Given the description of an element on the screen output the (x, y) to click on. 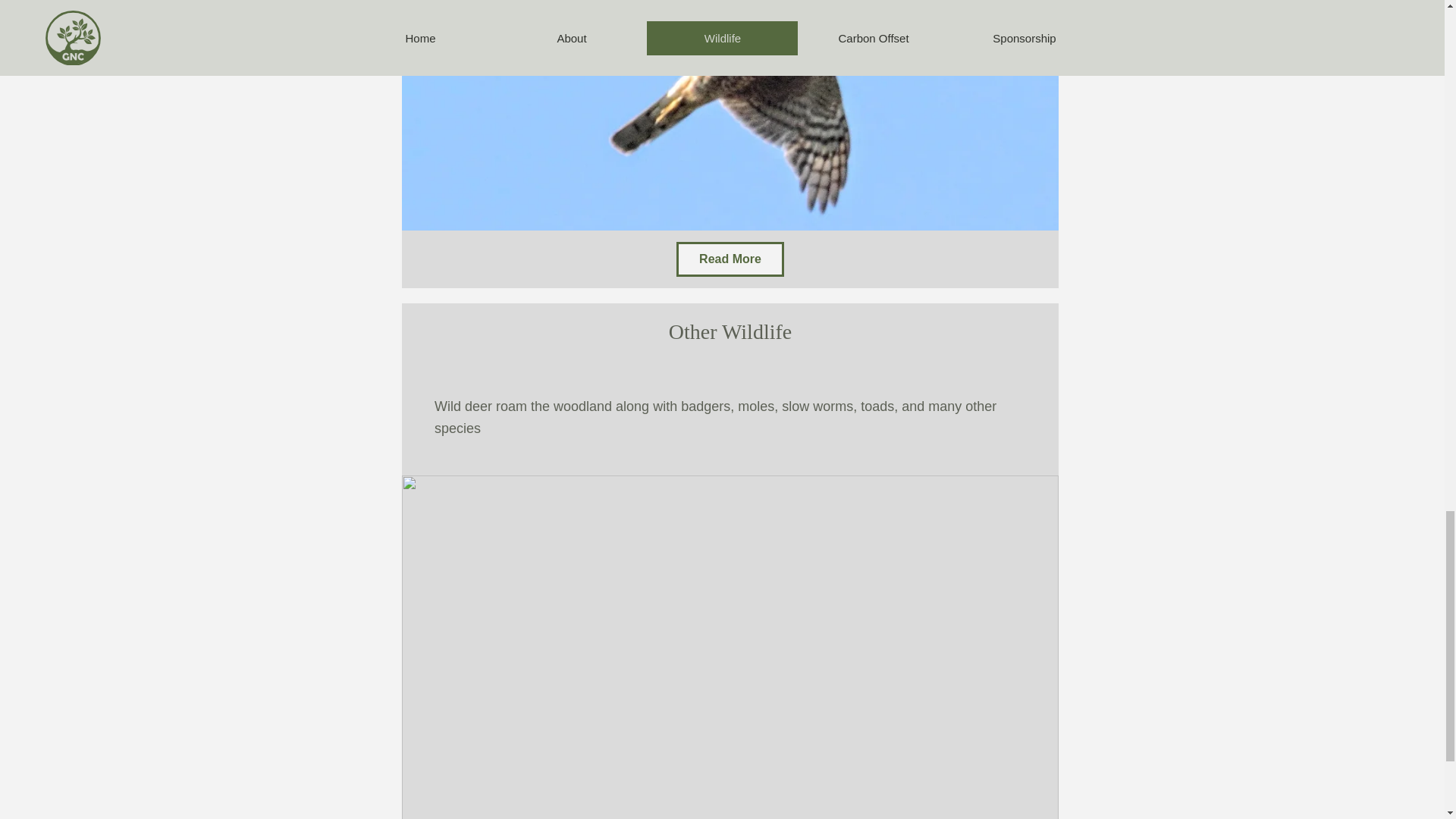
Read More (730, 258)
